Given the description of an element on the screen output the (x, y) to click on. 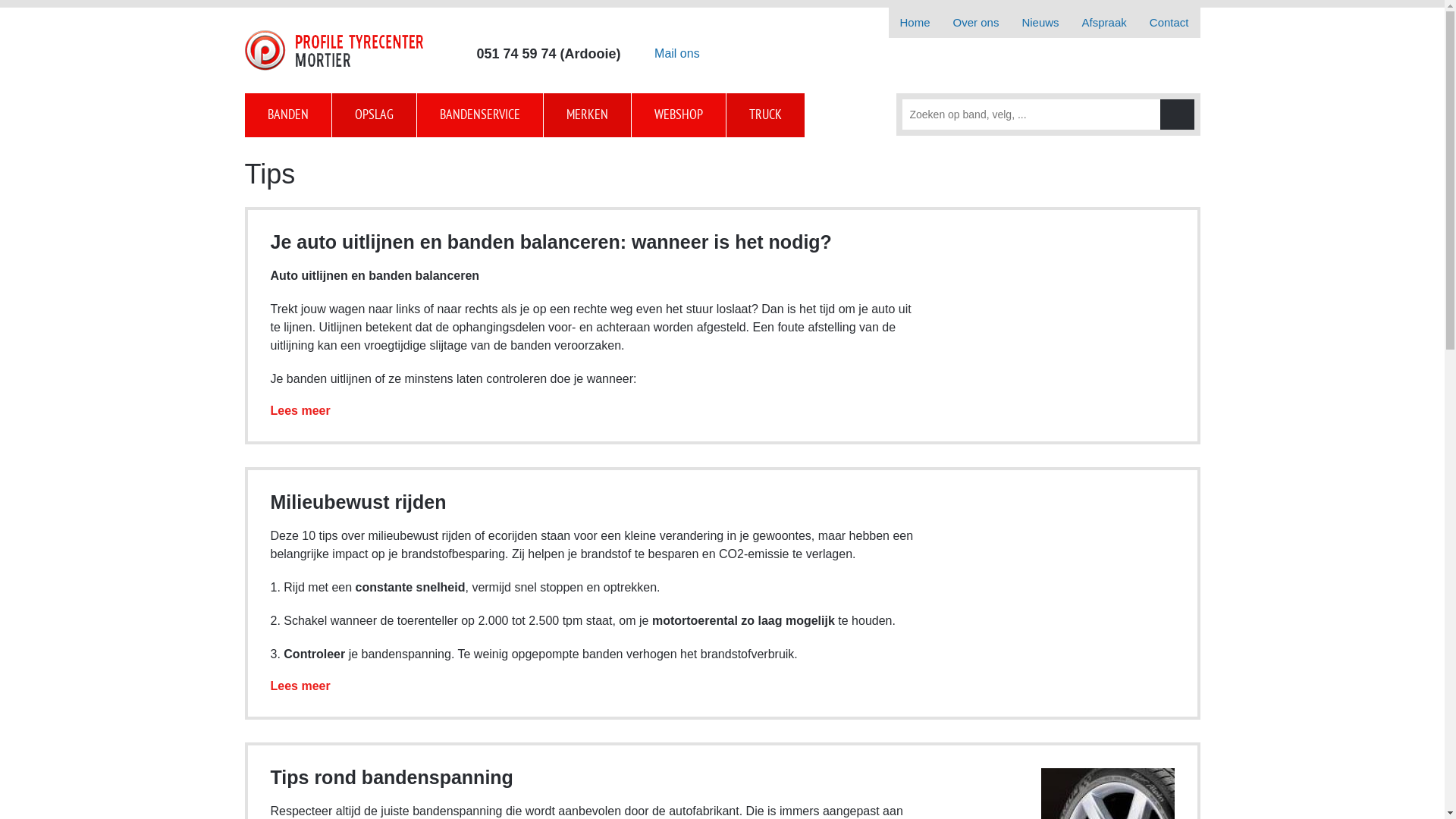
WEBSHOP Element type: text (677, 115)
Toepassen Element type: text (1177, 114)
Afspraak Element type: text (1104, 22)
TRUCK Element type: text (765, 115)
BANDENSERVICE Element type: text (480, 115)
Over ons Element type: text (975, 22)
Banden Mortier Element type: hover (333, 50)
Home Element type: text (914, 22)
OPSLAG Element type: text (374, 115)
MERKEN Element type: text (586, 115)
051 74 59 74 (Ardooie) Element type: text (540, 53)
Nieuws Element type: text (1040, 22)
Skip to main content Element type: text (54, 0)
BANDEN Element type: text (287, 115)
Mail ons Element type: text (669, 53)
Contact Element type: text (1169, 22)
